Given the description of an element on the screen output the (x, y) to click on. 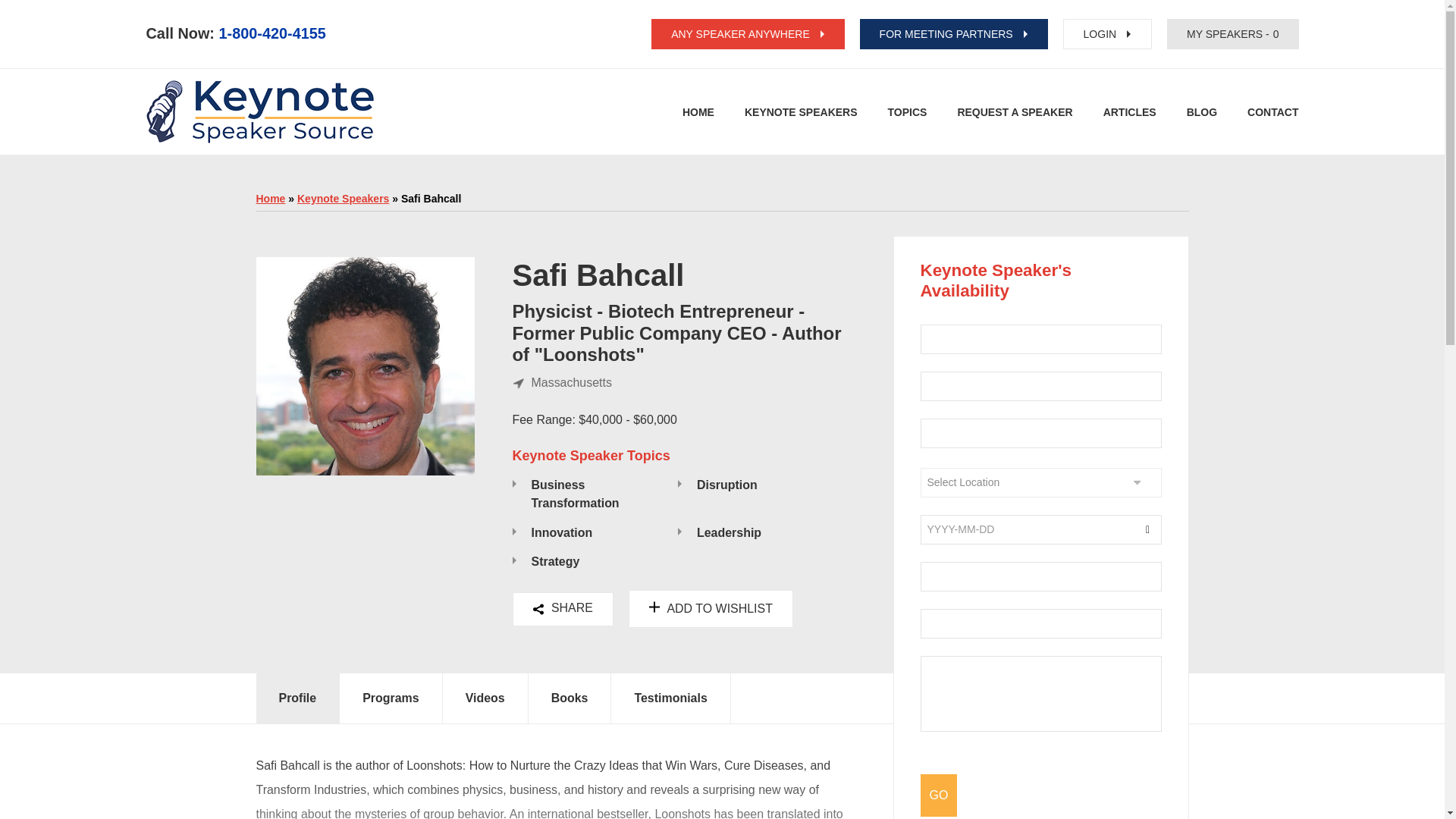
Books (569, 698)
Testimonials (670, 698)
ADD TO WISHLIST (710, 608)
Safi Bahcall (598, 274)
SHARE (562, 609)
Videos (485, 698)
Keynote Speakers (342, 198)
HOME (698, 111)
Testimonials (670, 698)
MY SPEAKERS -0 (1232, 33)
Profile (298, 698)
Programs (390, 698)
KEYNOTE SPEAKERS (550, 698)
REQUEST A SPEAKER (800, 111)
